Given the description of an element on the screen output the (x, y) to click on. 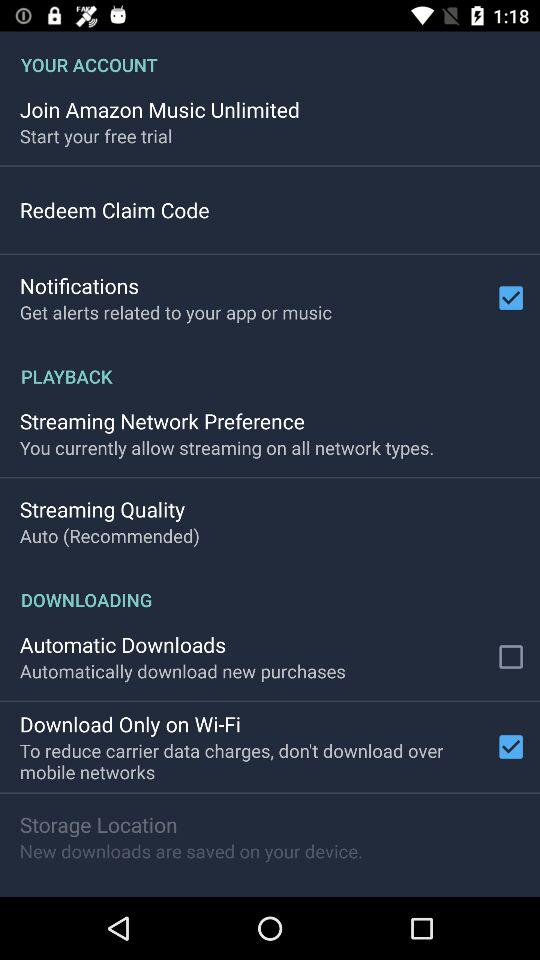
launch icon below auto (recommended) item (270, 589)
